Given the description of an element on the screen output the (x, y) to click on. 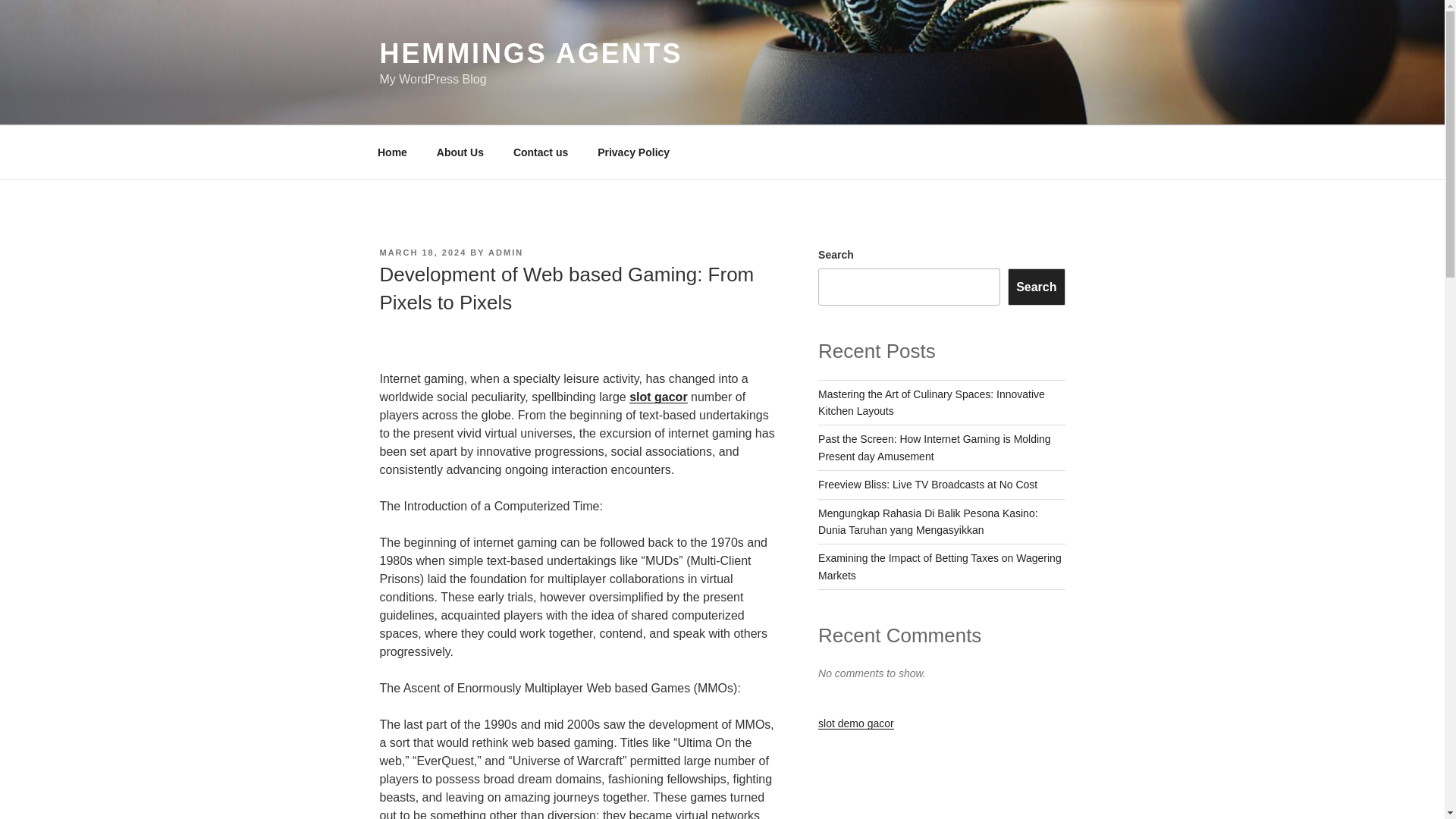
slot demo gacor (855, 723)
MARCH 18, 2024 (421, 252)
Freeview Bliss: Live TV Broadcasts at No Cost (927, 484)
About Us (459, 151)
Search (1035, 286)
Home (392, 151)
HEMMINGS AGENTS (530, 52)
Examining the Impact of Betting Taxes on Wagering Markets (939, 566)
Privacy Policy (633, 151)
Contact us (539, 151)
ADMIN (504, 252)
slot gacor (657, 396)
